Given the description of an element on the screen output the (x, y) to click on. 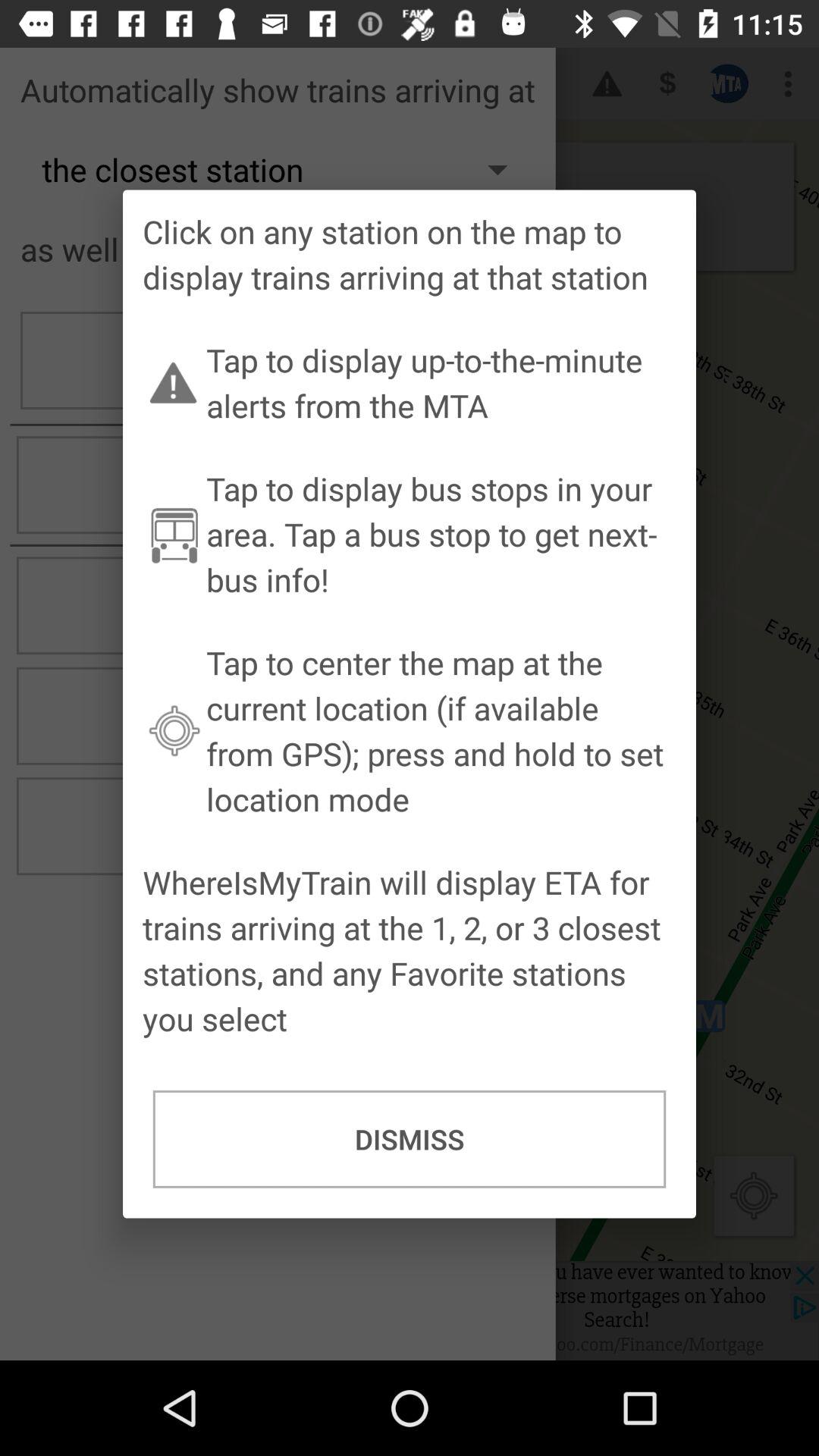
turn off the app below whereismytrain will display app (409, 1139)
